Given the description of an element on the screen output the (x, y) to click on. 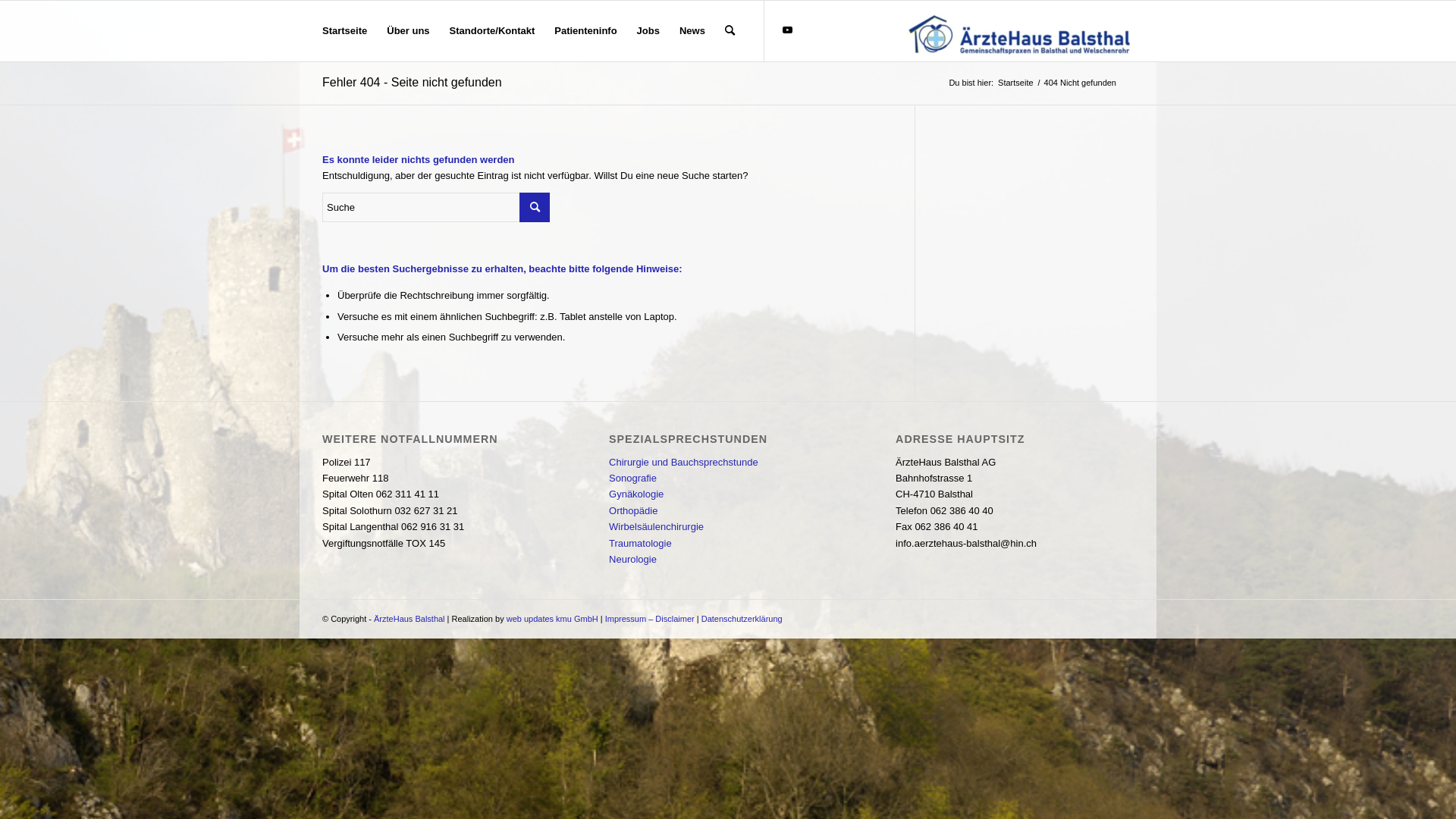
Patienteninfo Element type: text (585, 30)
Neurologie Element type: text (632, 558)
Jobs Element type: text (648, 30)
News Element type: text (692, 30)
Youtube Element type: hover (787, 29)
web updates kmu GmbH Element type: text (552, 618)
Startseite Element type: text (1015, 82)
Startseite Element type: text (344, 30)
Sonografie Element type: text (632, 477)
Traumatologie Element type: text (639, 543)
Standorte/Kontakt Element type: text (492, 30)
Chirurgie und Bauchsprechstunde Element type: text (683, 461)
